Given the description of an element on the screen output the (x, y) to click on. 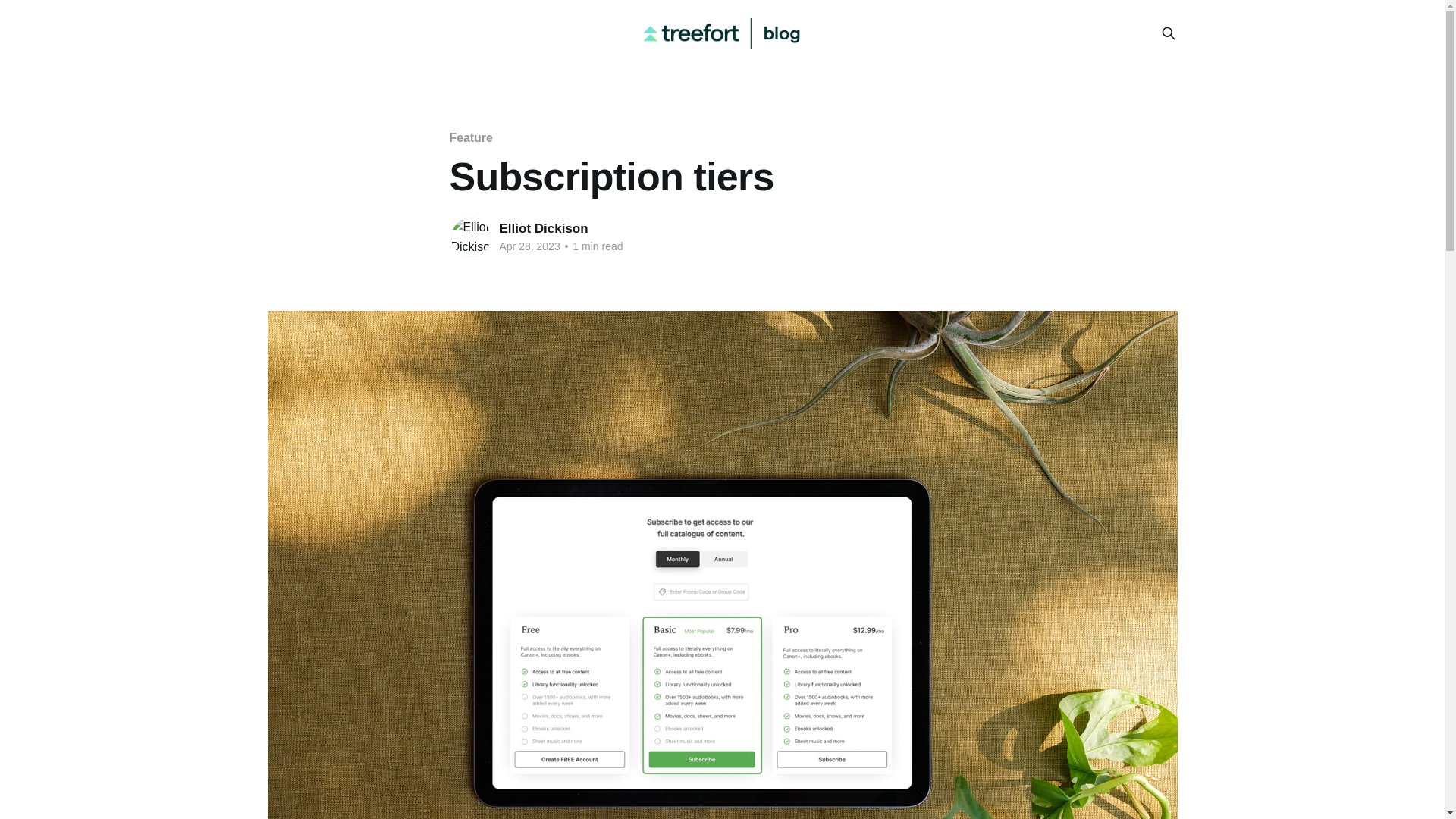
Elliot Dickison (543, 228)
Feature (470, 137)
